Given the description of an element on the screen output the (x, y) to click on. 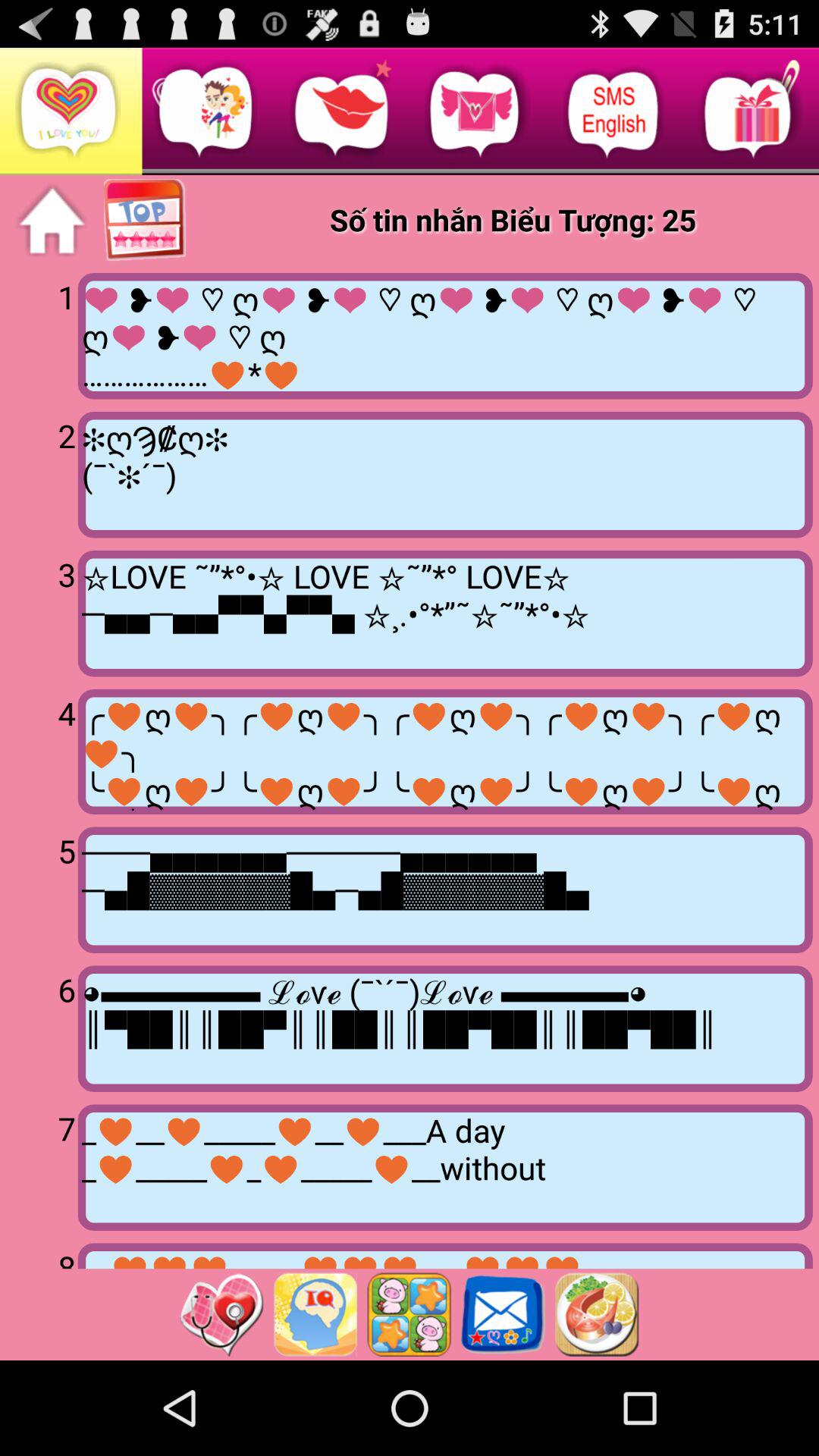
click the item next to the 6 (444, 1028)
